Given the description of an element on the screen output the (x, y) to click on. 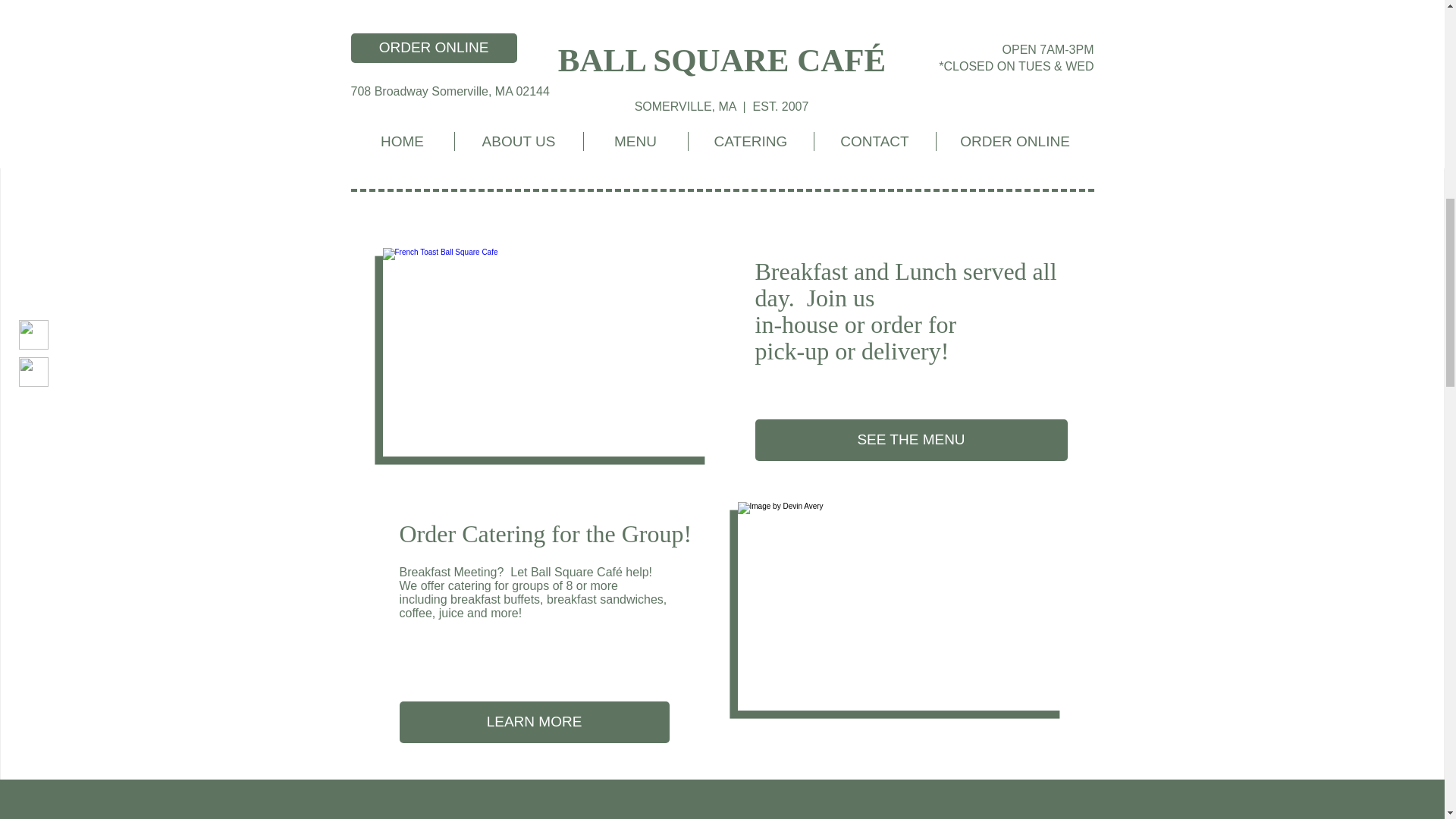
LEARN MORE (533, 721)
SEE THE MENU (911, 440)
